Given the description of an element on the screen output the (x, y) to click on. 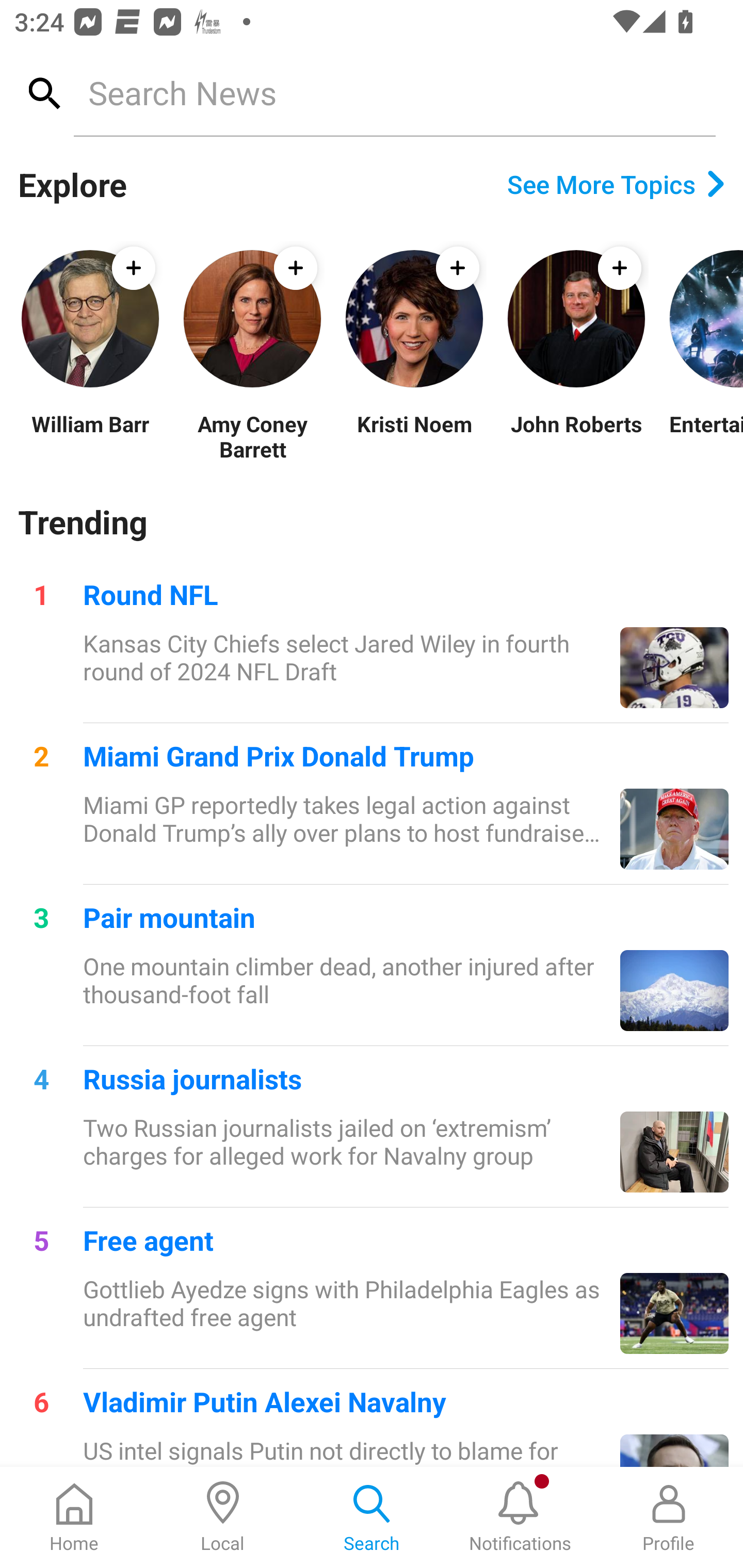
Search News (394, 92)
See More Topics (616, 183)
William Barr (89, 436)
Amy Coney Barrett (251, 436)
Kristi Noem (413, 436)
John Roberts (575, 436)
Home (74, 1517)
Local (222, 1517)
Notifications, New notification Notifications (519, 1517)
Profile (668, 1517)
